Given the description of an element on the screen output the (x, y) to click on. 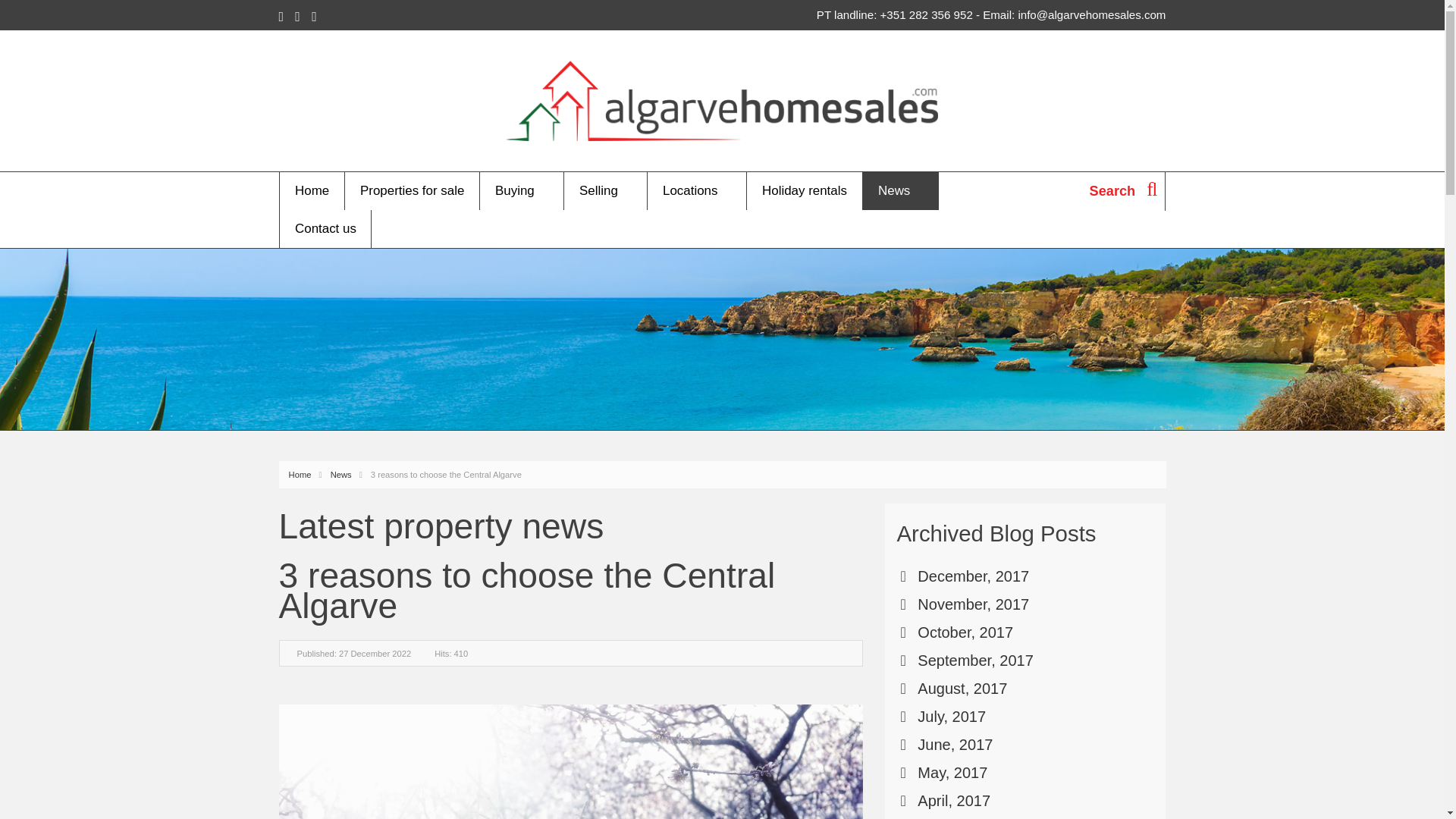
Properties for sale (412, 190)
Holiday rentals (803, 190)
Home (311, 190)
Contact us (325, 228)
